Given the description of an element on the screen output the (x, y) to click on. 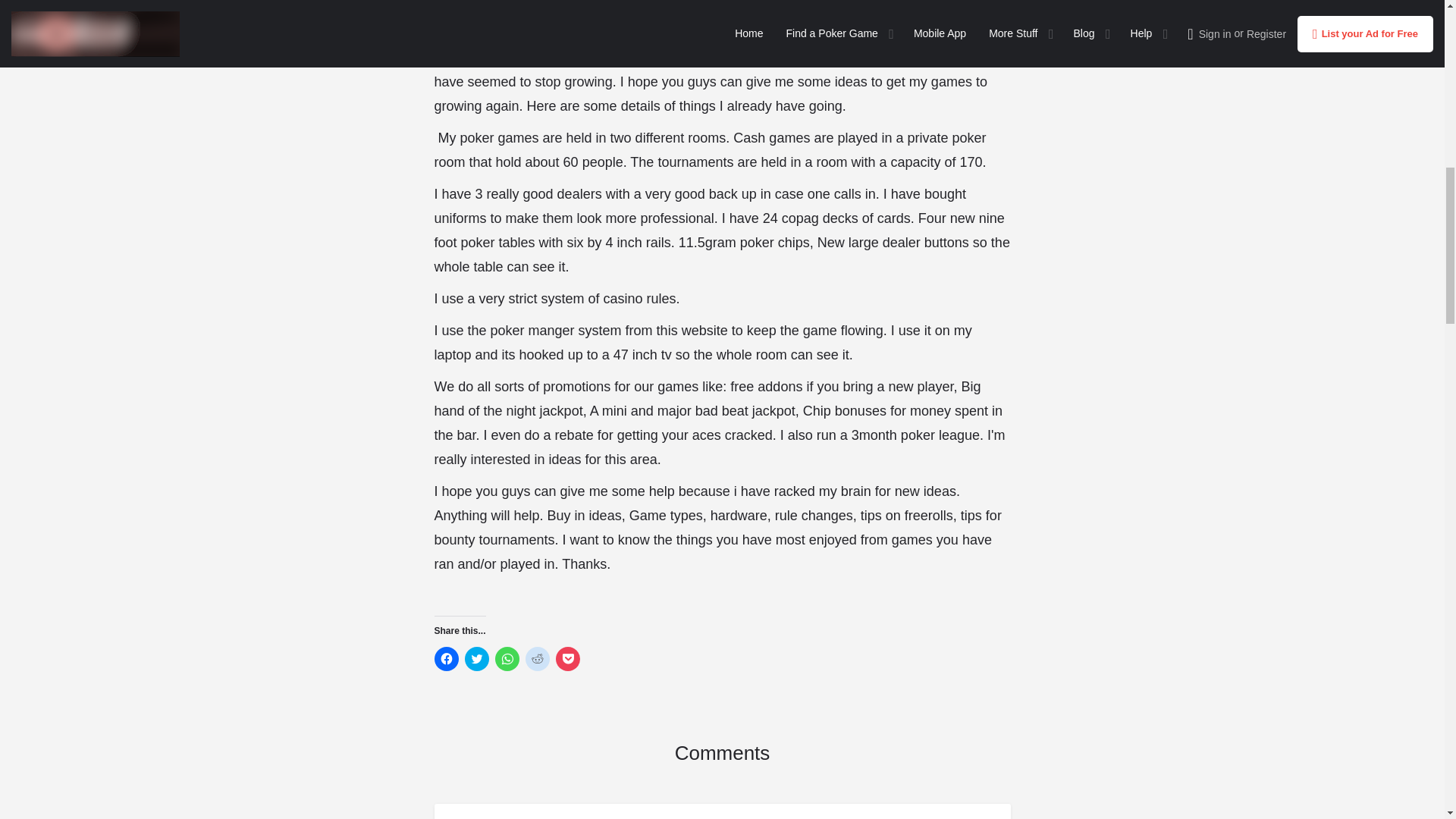
Click to share on Facebook (445, 658)
Click to share on Pocket (566, 658)
Click to share on WhatsApp (506, 658)
Click to share on Twitter (475, 658)
Click to share on Reddit (536, 658)
